Given the description of an element on the screen output the (x, y) to click on. 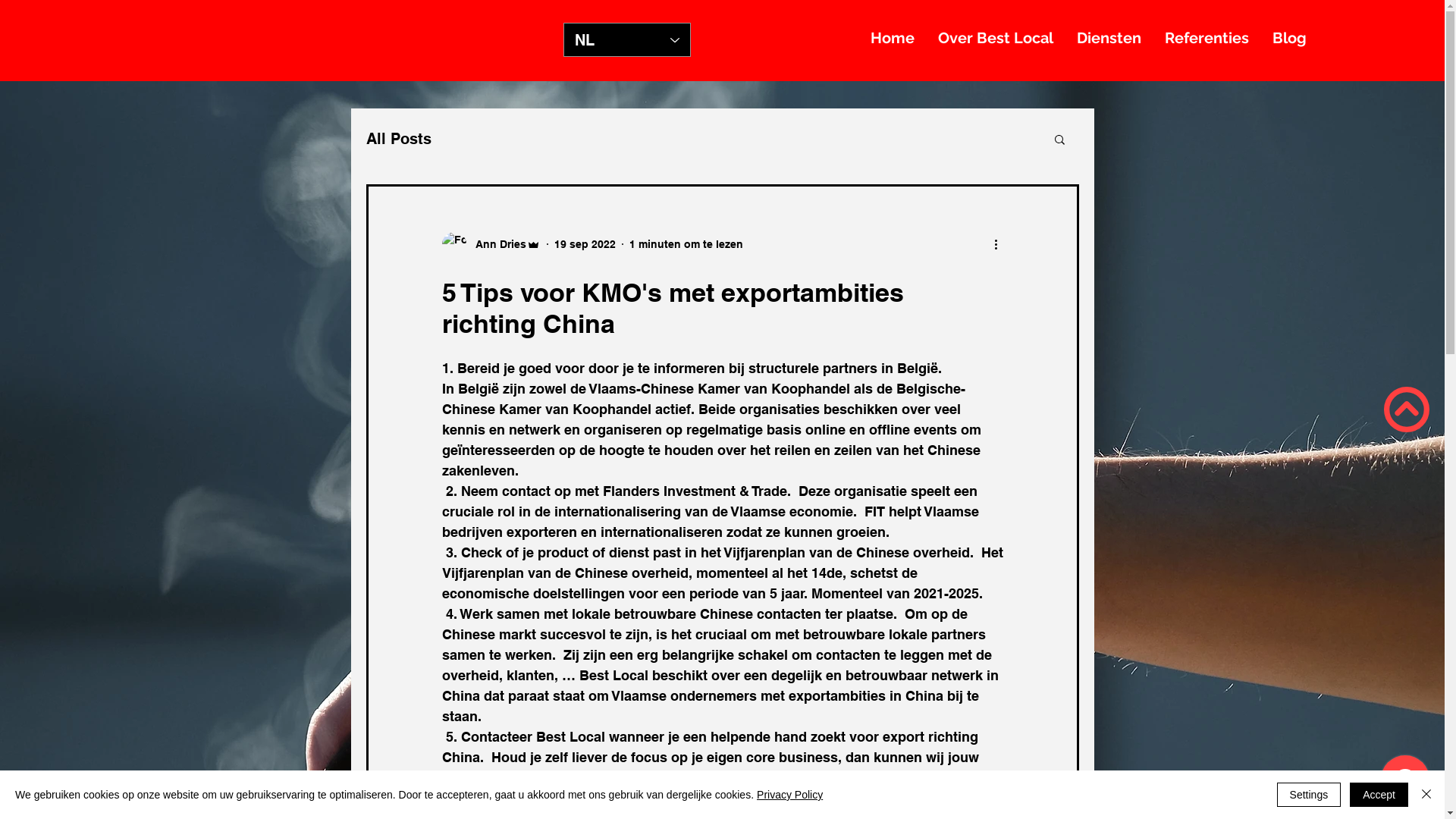
Referenties Element type: text (1206, 37)
Settings Element type: text (1309, 794)
Blog Element type: text (1289, 37)
Over Best Local Element type: text (995, 37)
Privacy Policy Element type: text (789, 794)
Accept Element type: text (1378, 794)
Home Element type: text (892, 37)
Diensten Element type: text (1108, 37)
All Posts Element type: text (397, 138)
